Given the description of an element on the screen output the (x, y) to click on. 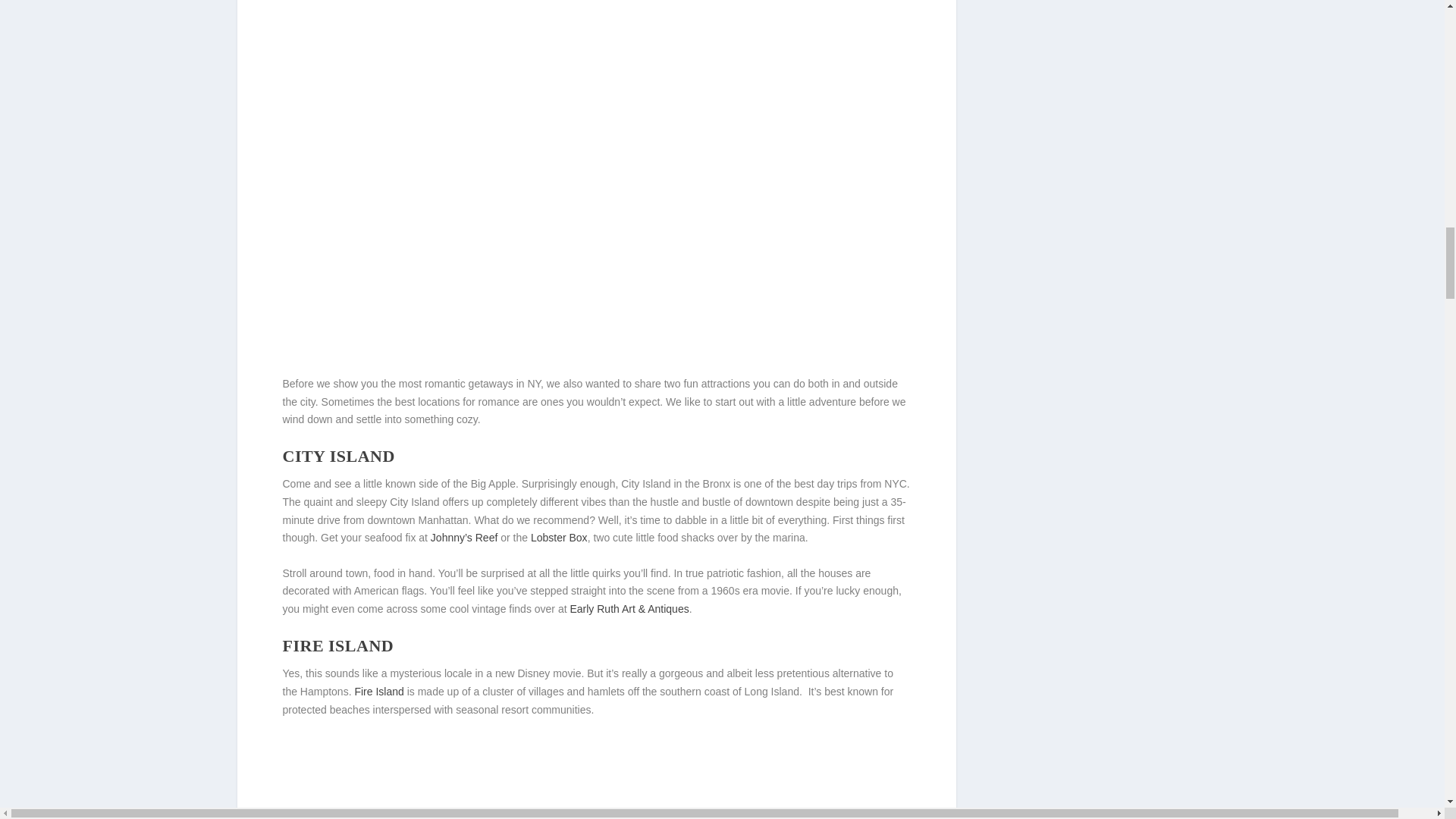
photo-1529806414965-afc2044ad821 (596, 77)
